Given the description of an element on the screen output the (x, y) to click on. 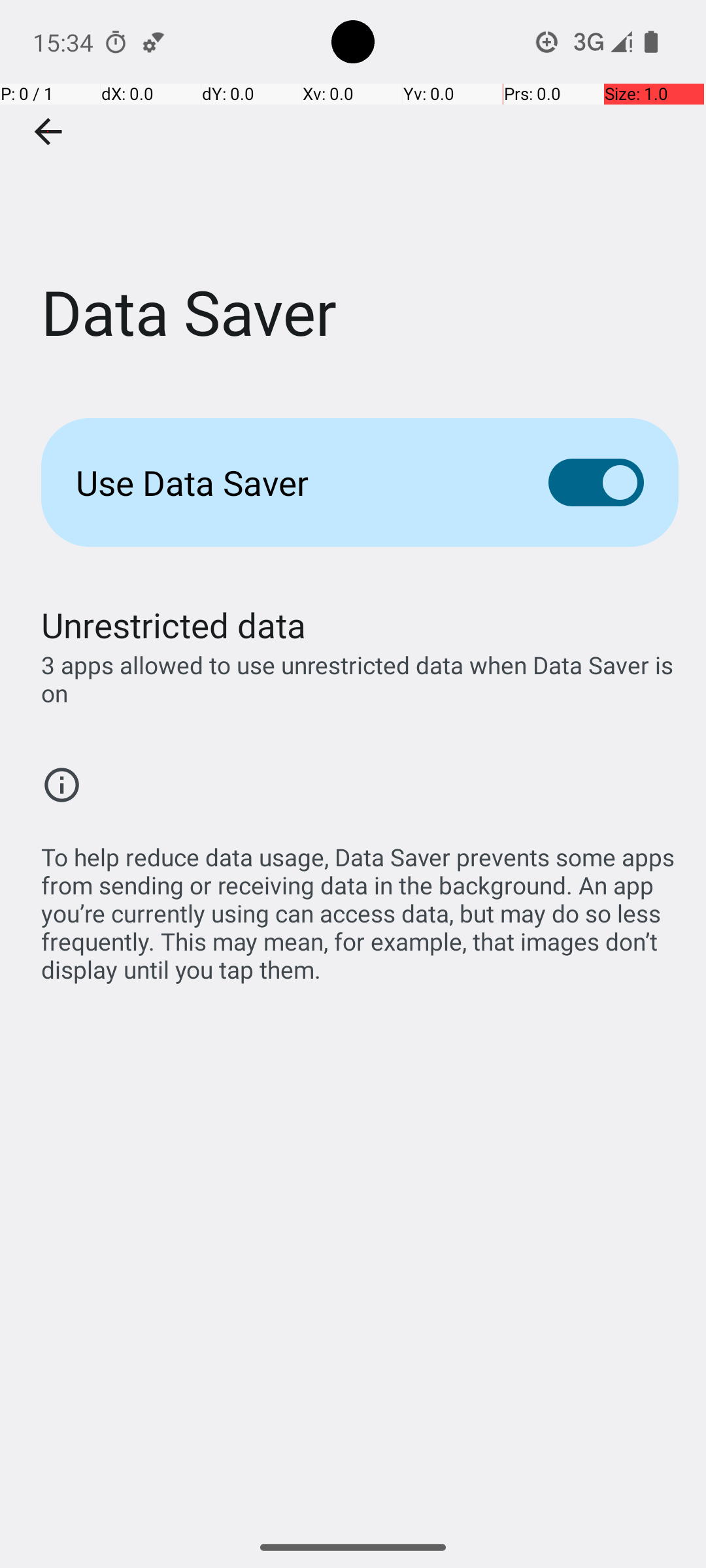
Use Data Saver Element type: android.widget.TextView (291, 482)
Unrestricted data Element type: android.widget.TextView (173, 624)
3 apps allowed to use unrestricted data when Data Saver is on Element type: android.widget.TextView (359, 678)
To help reduce data usage, Data Saver prevents some apps from sending or receiving data in the background. An app you’re currently using can access data, but may do so less frequently. This may mean, for example, that images don’t display until you tap them. Element type: android.widget.TextView (359, 905)
